Given the description of an element on the screen output the (x, y) to click on. 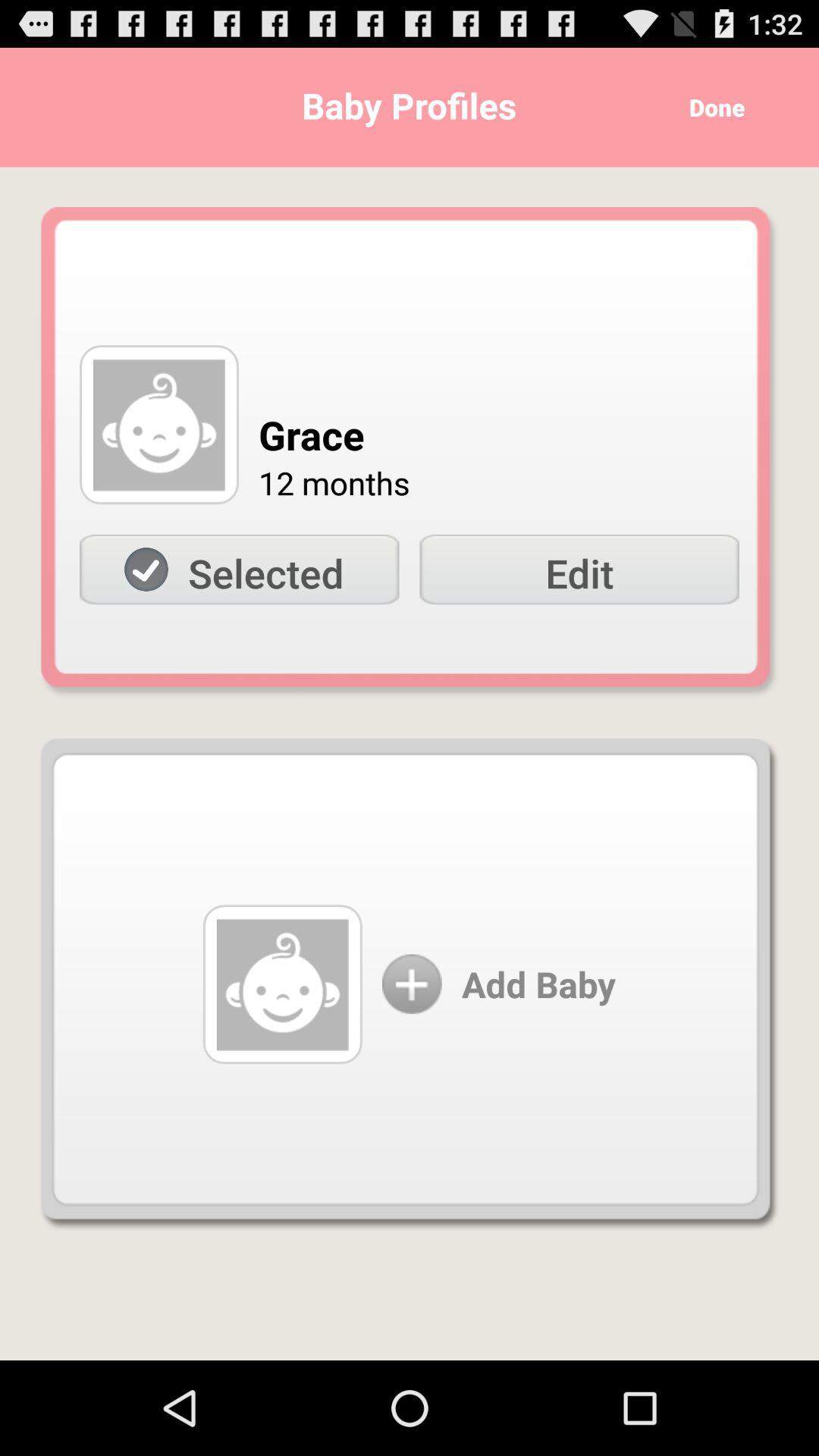
jump to edit (579, 569)
